Given the description of an element on the screen output the (x, y) to click on. 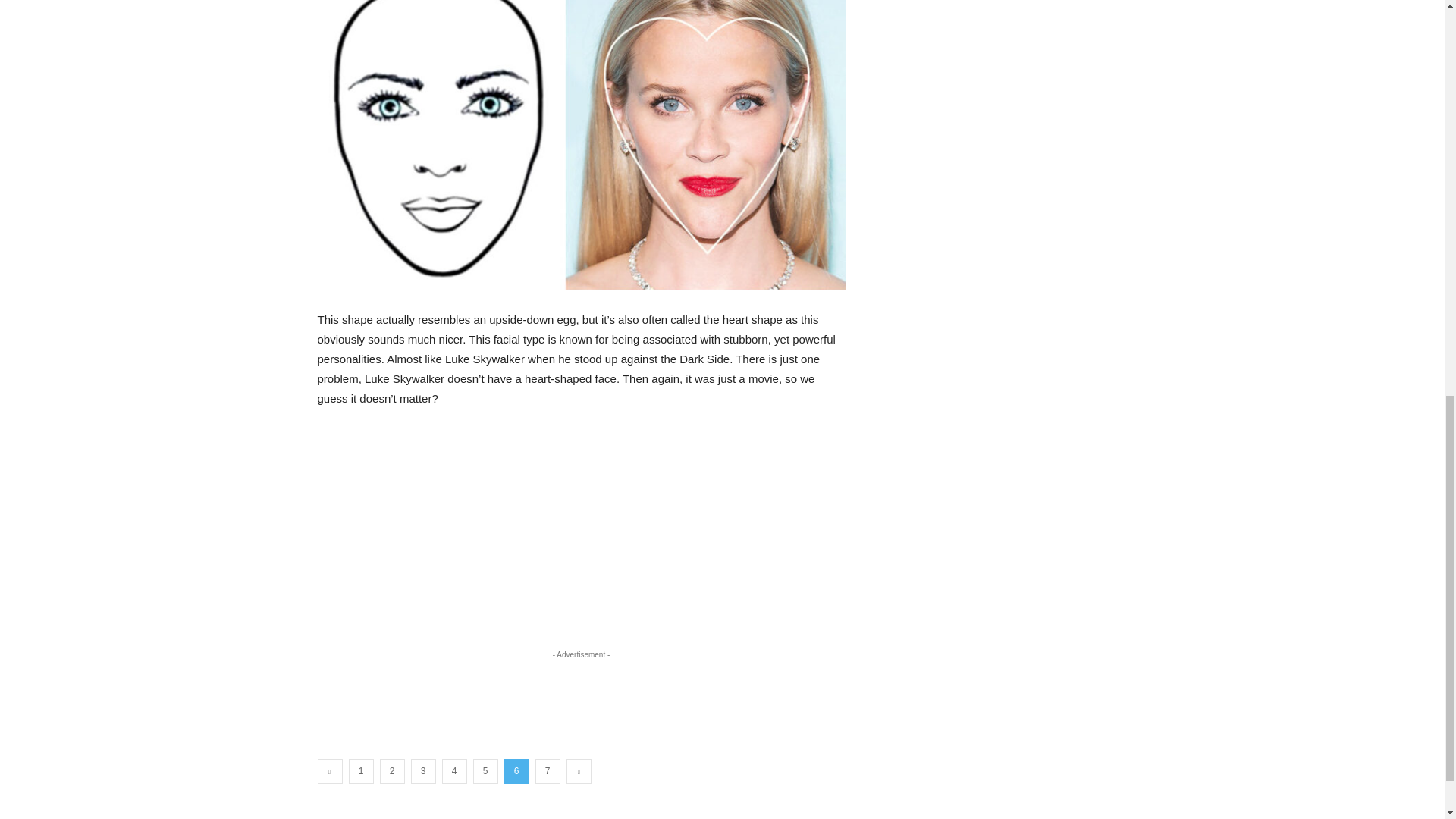
1 (361, 771)
Advertisement (1003, 105)
Advertisement (580, 696)
Advertisement (580, 534)
3 (422, 771)
2 (391, 771)
5 (485, 771)
4 (453, 771)
7 (547, 771)
